Given the description of an element on the screen output the (x, y) to click on. 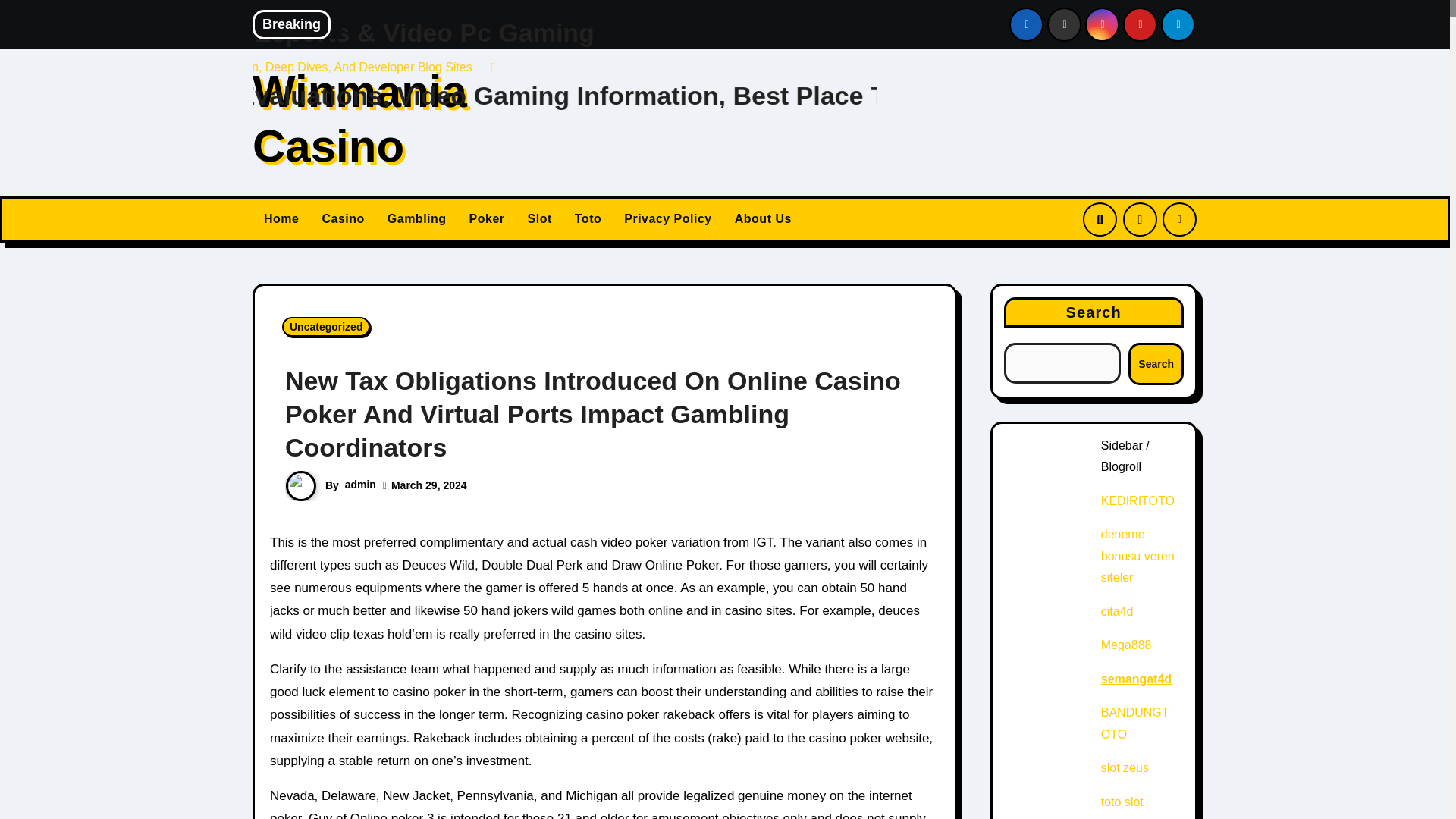
Poker (487, 219)
Toto (587, 219)
Gambling (416, 219)
Privacy Policy (667, 219)
Slot (539, 219)
Winmania Casino (359, 118)
Toto (587, 219)
Casino (342, 219)
About Us (763, 219)
Uncategorized (325, 326)
